Given the description of an element on the screen output the (x, y) to click on. 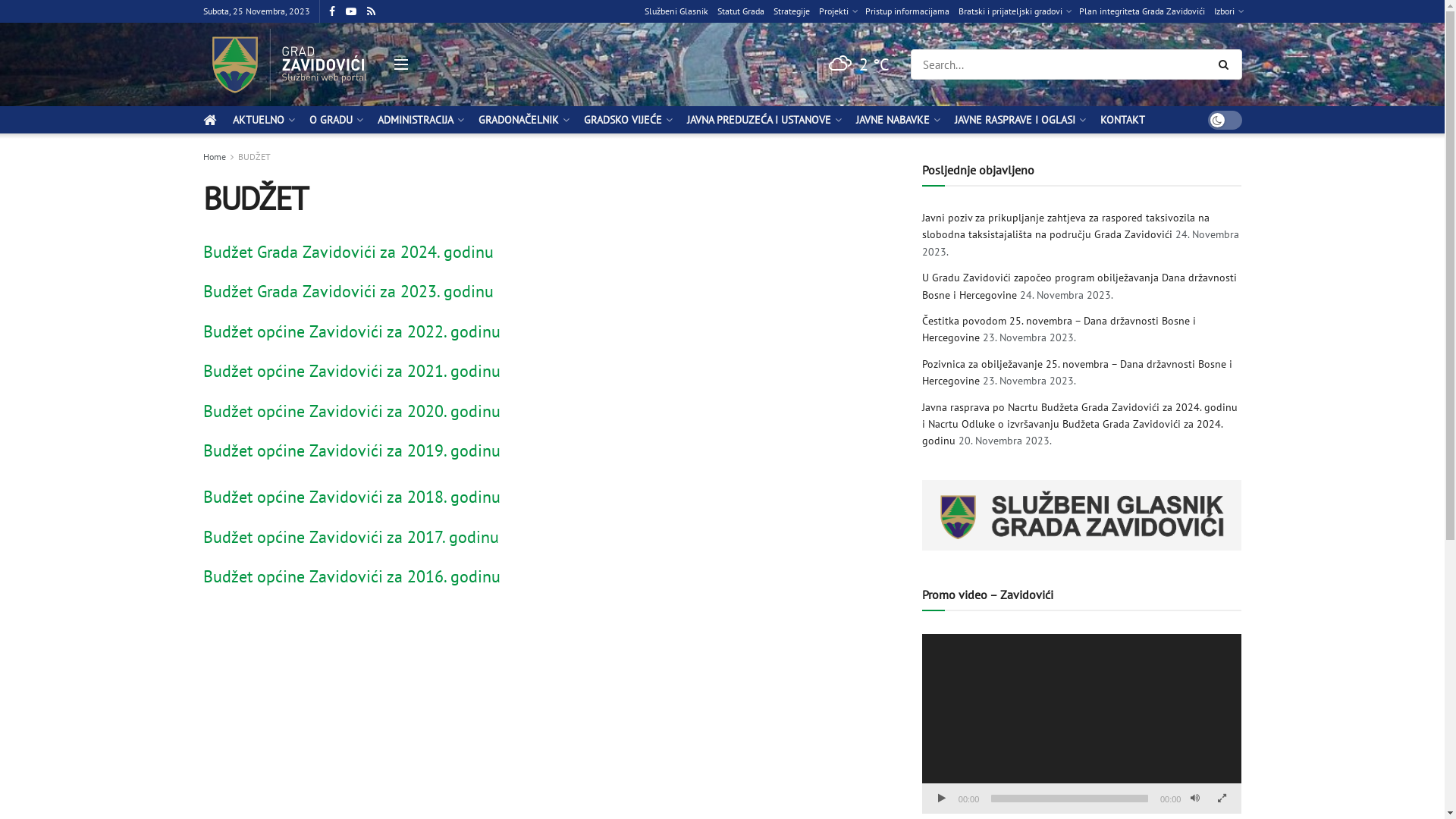
JAVNE RASPRAVE I OGLASI Element type: text (1017, 119)
Projekti Element type: text (837, 11)
JAVNE NABAVKE Element type: text (896, 119)
Strategije Element type: text (791, 11)
Bratski i prijateljski gradovi Element type: text (1014, 11)
KONTAKT Element type: text (1121, 119)
Home Element type: text (214, 156)
ADMINISTRACIJA Element type: text (419, 119)
Ugasi zvuk Element type: hover (1194, 798)
Statut Grada Element type: text (740, 11)
Izbori Element type: text (1227, 11)
AKTUELNO Element type: text (261, 119)
Pristup informacijama Element type: text (906, 11)
O GRADU Element type: text (334, 119)
